Given the description of an element on the screen output the (x, y) to click on. 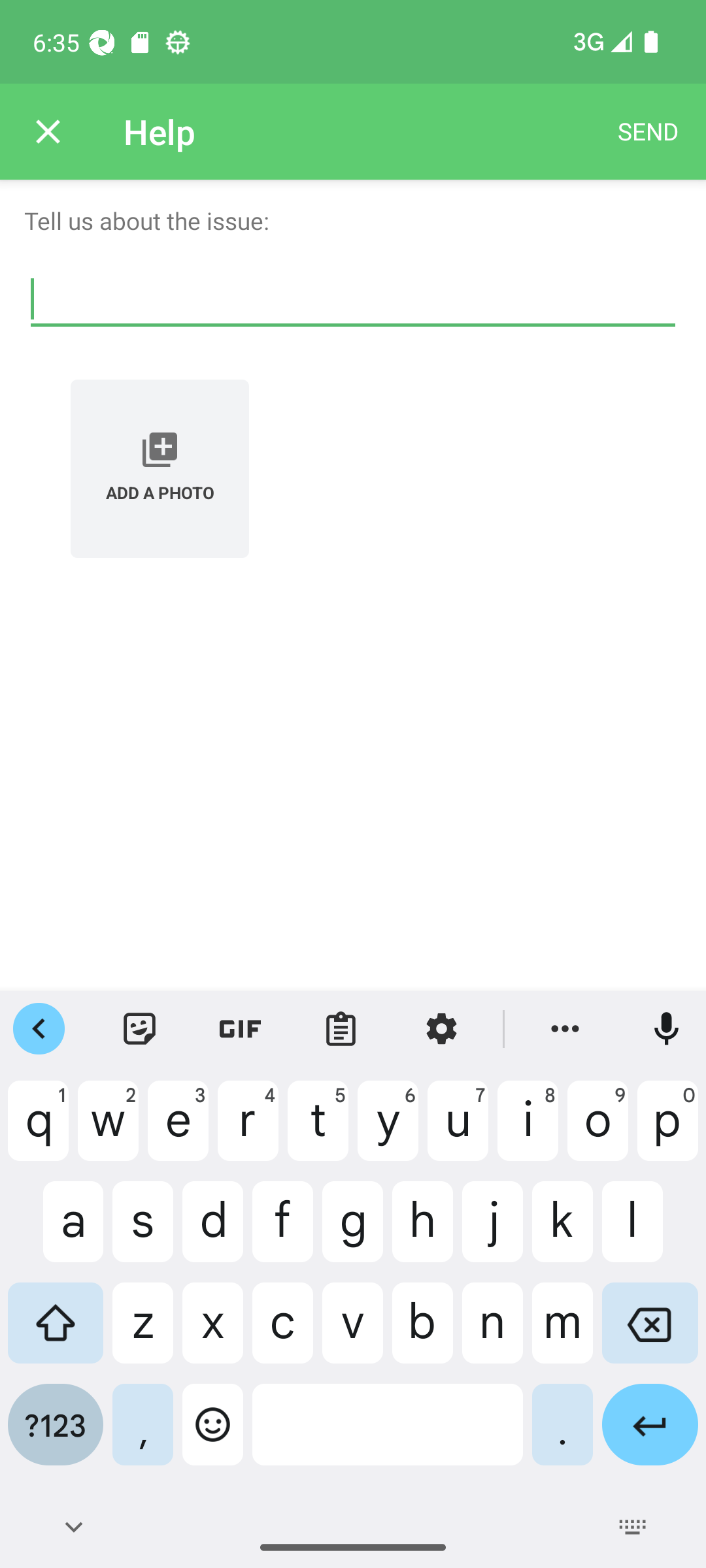
Navigate up (48, 131)
SEND (647, 131)
ADD A PHOTO (159, 468)
